Given the description of an element on the screen output the (x, y) to click on. 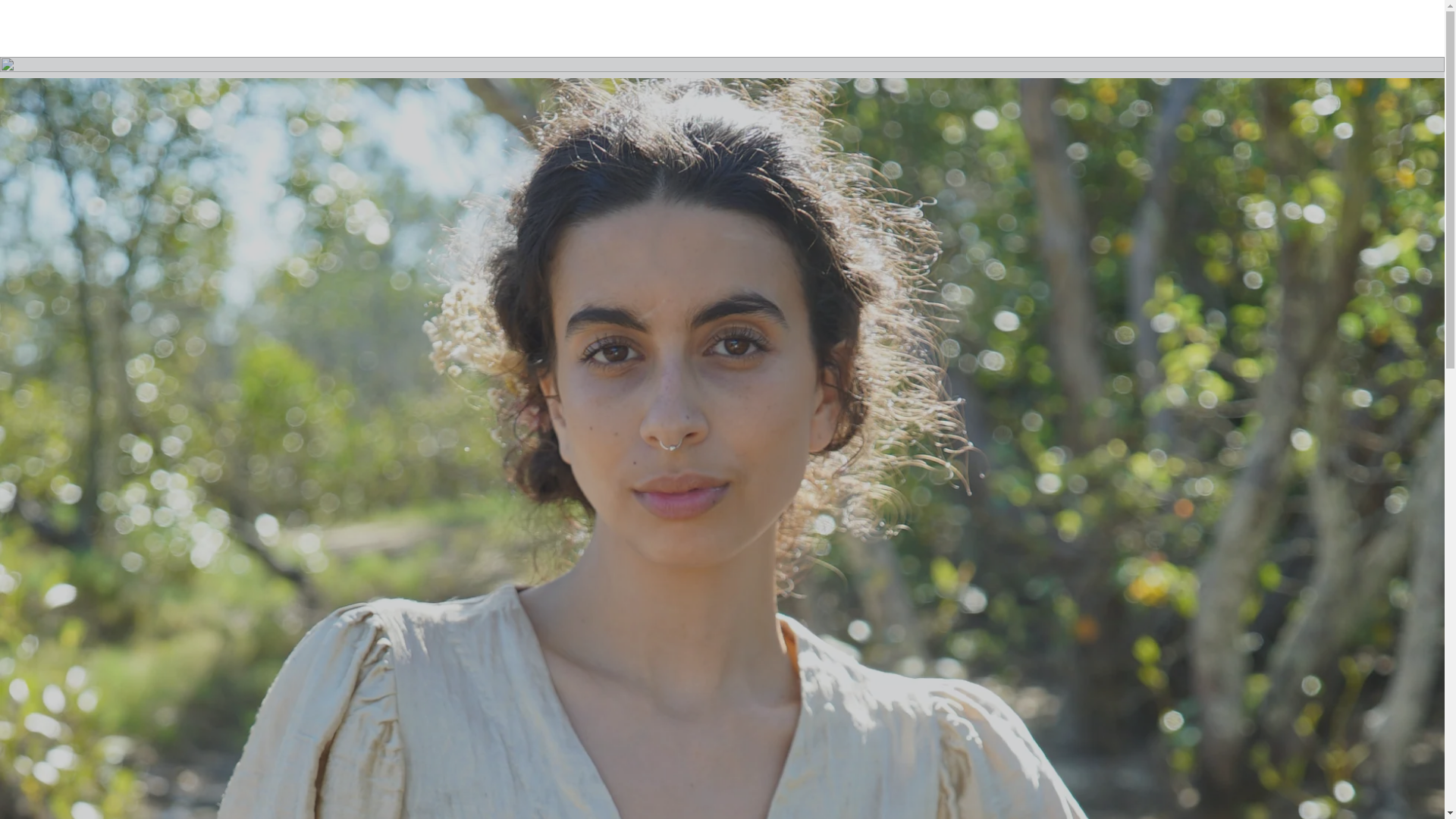
LARA STONE Element type: text (418, 34)
